Given the description of an element on the screen output the (x, y) to click on. 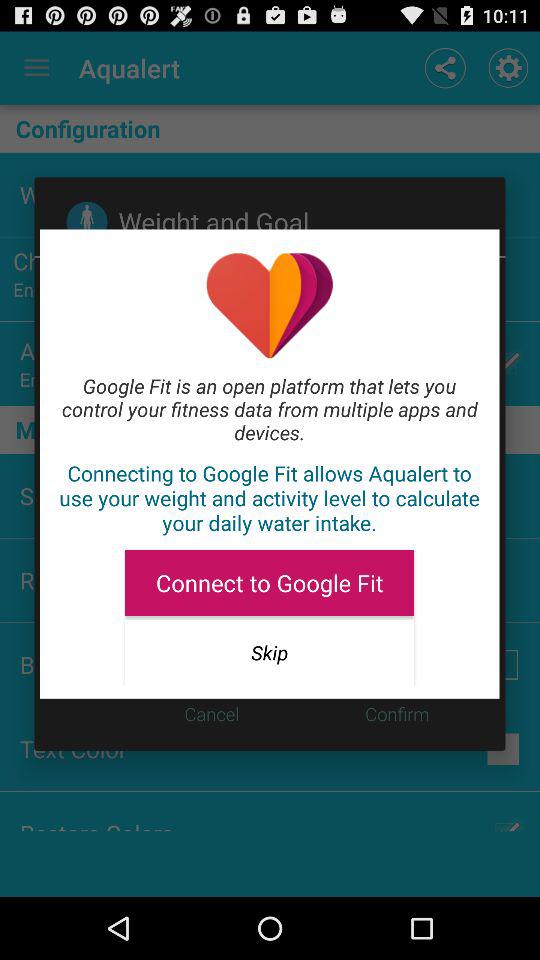
scroll until the skip icon (269, 652)
